Given the description of an element on the screen output the (x, y) to click on. 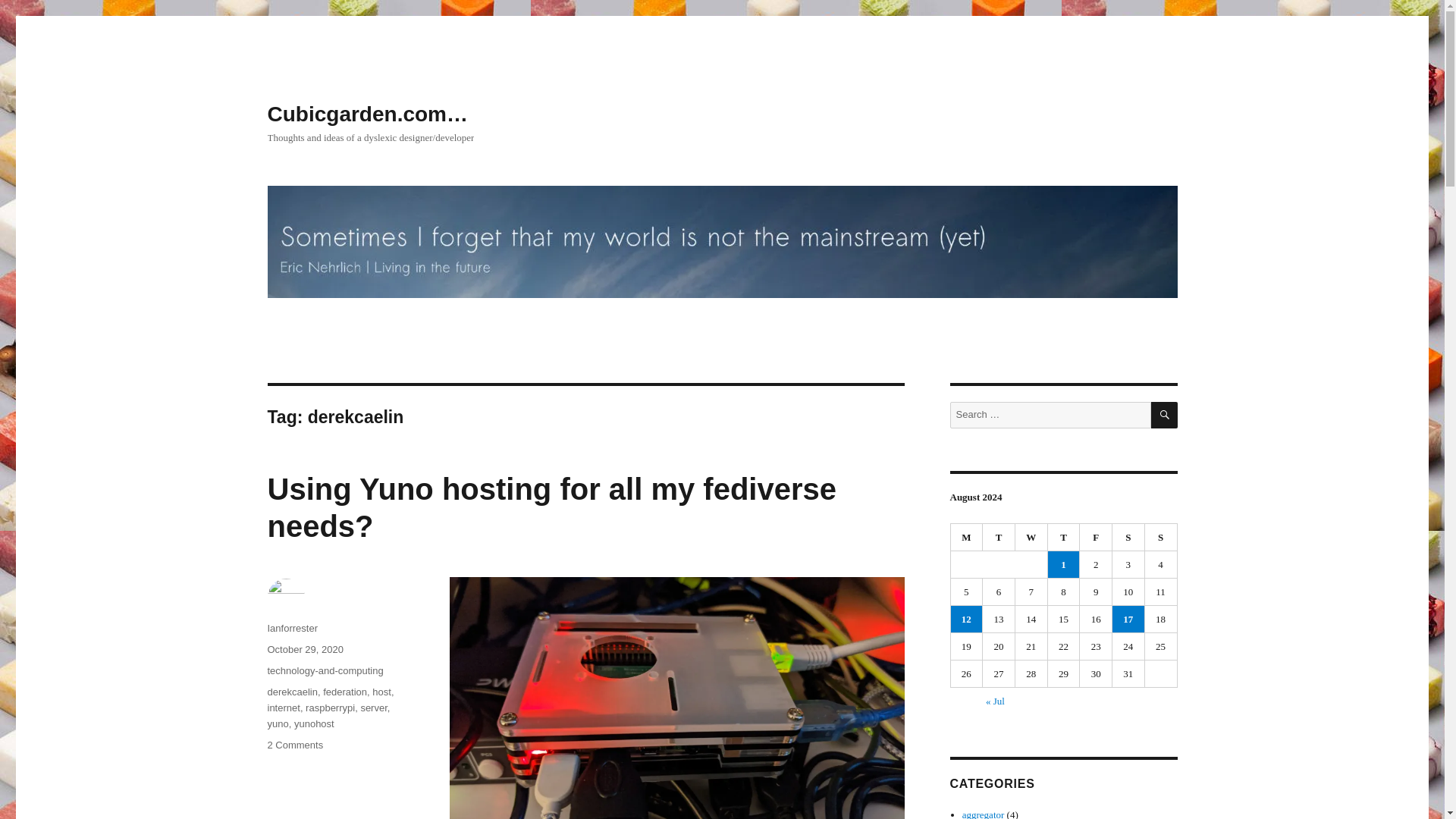
October 29, 2020 (304, 649)
1 (1064, 564)
Ianforrester (291, 627)
12 (966, 619)
Sunday (1160, 537)
Thursday (1064, 537)
Tuesday (998, 537)
internet (282, 707)
SEARCH (1164, 415)
aggregator (983, 814)
